Given the description of an element on the screen output the (x, y) to click on. 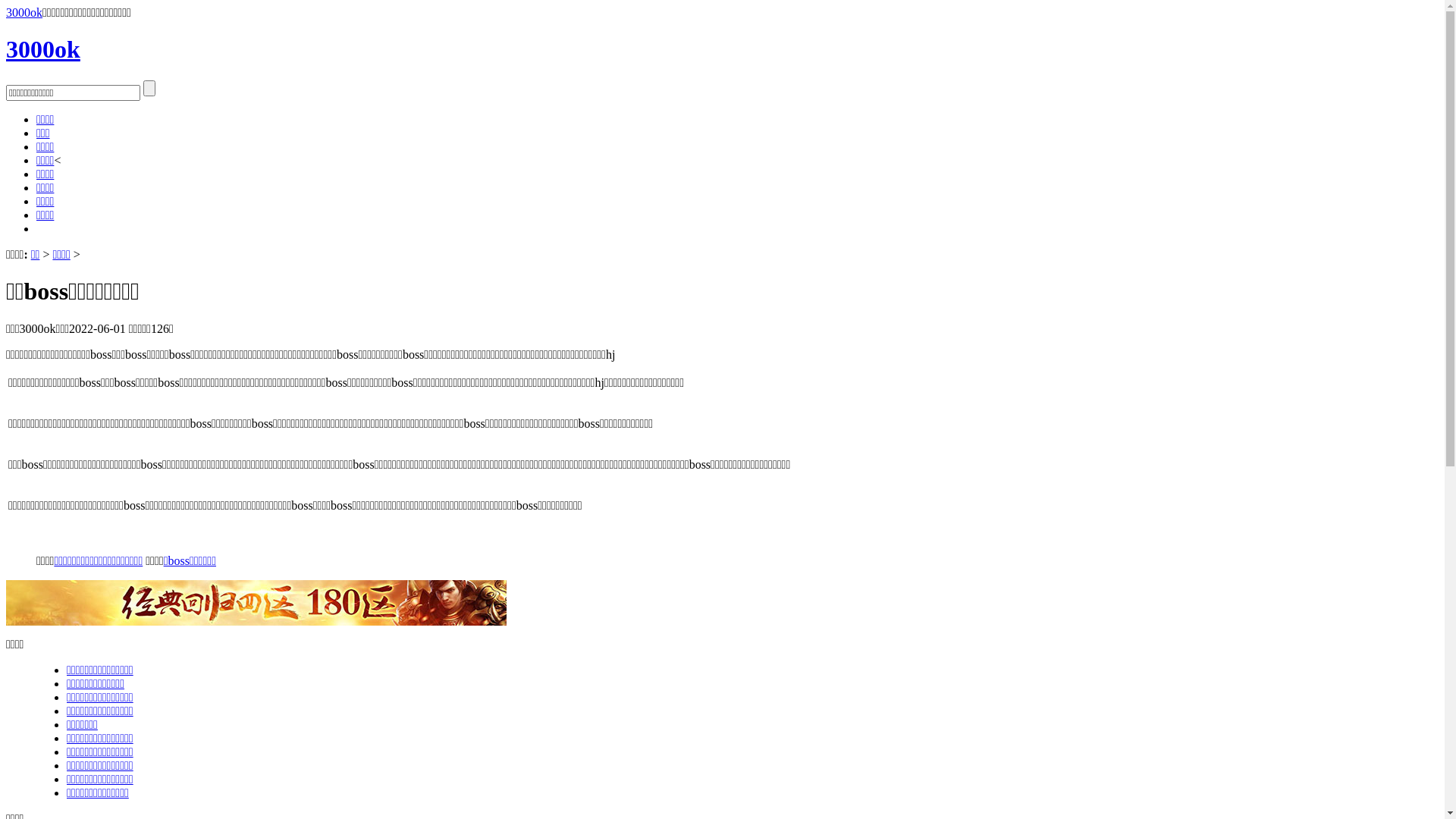
3000ok Element type: text (24, 12)
3000ok Element type: text (43, 48)
